Given the description of an element on the screen output the (x, y) to click on. 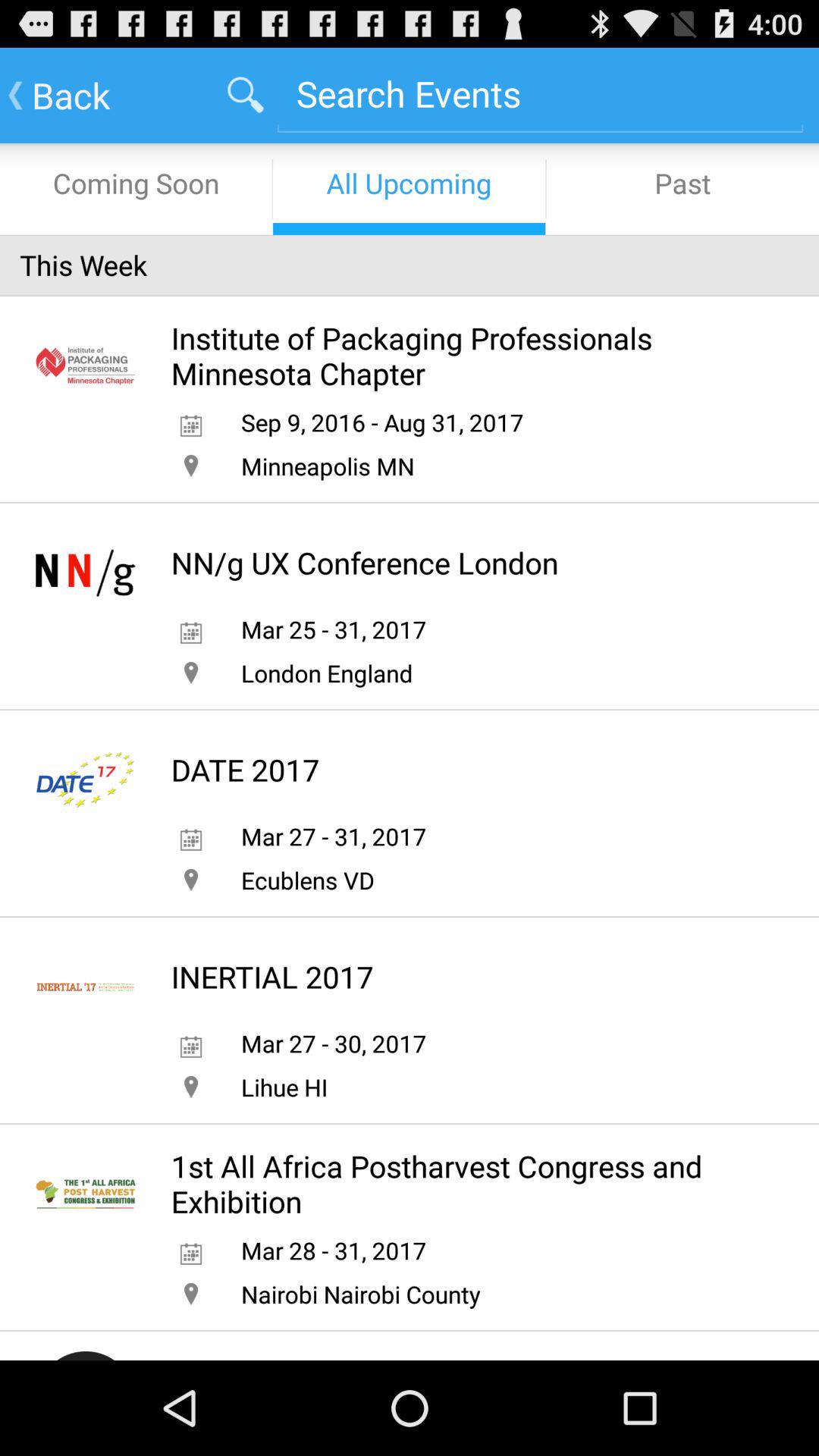
click item above the nn g ux icon (327, 465)
